Given the description of an element on the screen output the (x, y) to click on. 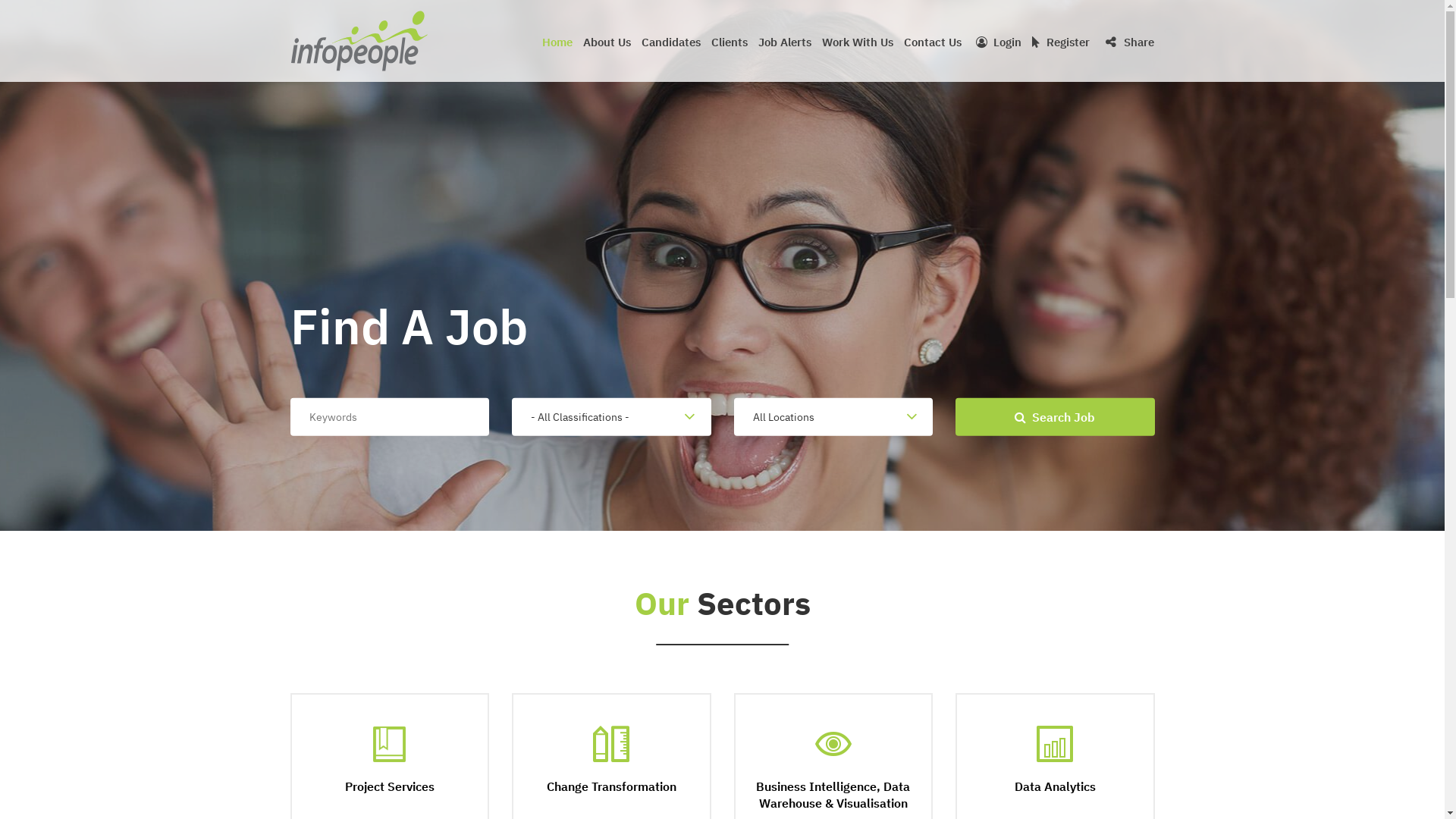
Info people Element type: hover (359, 40)
Candidates Element type: text (670, 45)
Work With Us Element type: text (857, 45)
Job Alerts Element type: text (784, 45)
About Us Element type: text (606, 45)
Contact Us Element type: text (932, 45)
Clients Element type: text (729, 45)
  Login Element type: text (998, 41)
  Register Element type: text (1060, 41)
  Search Job Element type: text (1054, 417)
Home Element type: text (556, 45)
